Given the description of an element on the screen output the (x, y) to click on. 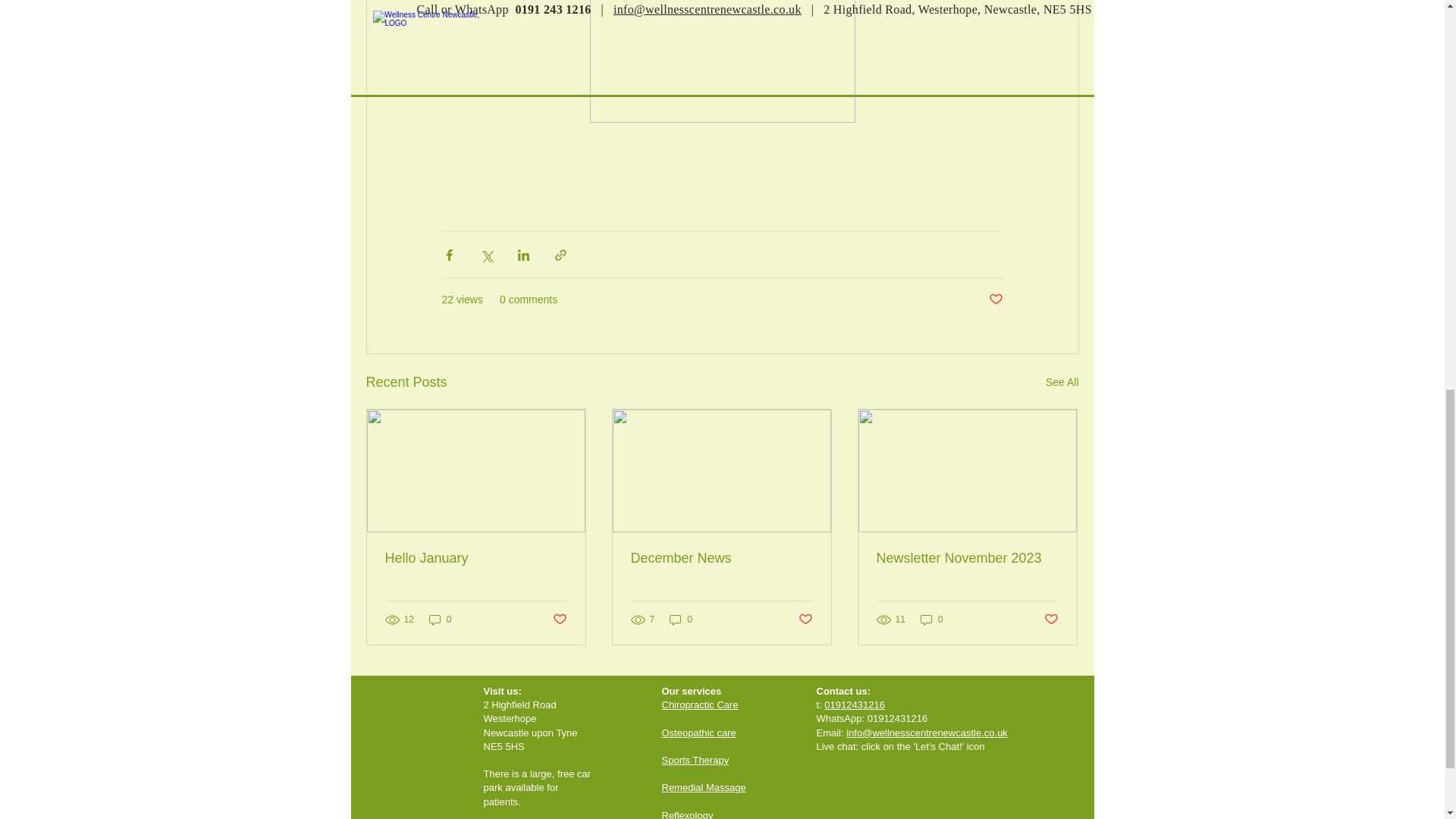
Hello January (476, 558)
Newsletter November 2023 (967, 558)
Post not marked as liked (995, 299)
0 (931, 619)
Chiropractic Care (699, 704)
See All (1061, 382)
December News (721, 558)
0 (681, 619)
Post not marked as liked (804, 618)
0 (440, 619)
